Given the description of an element on the screen output the (x, y) to click on. 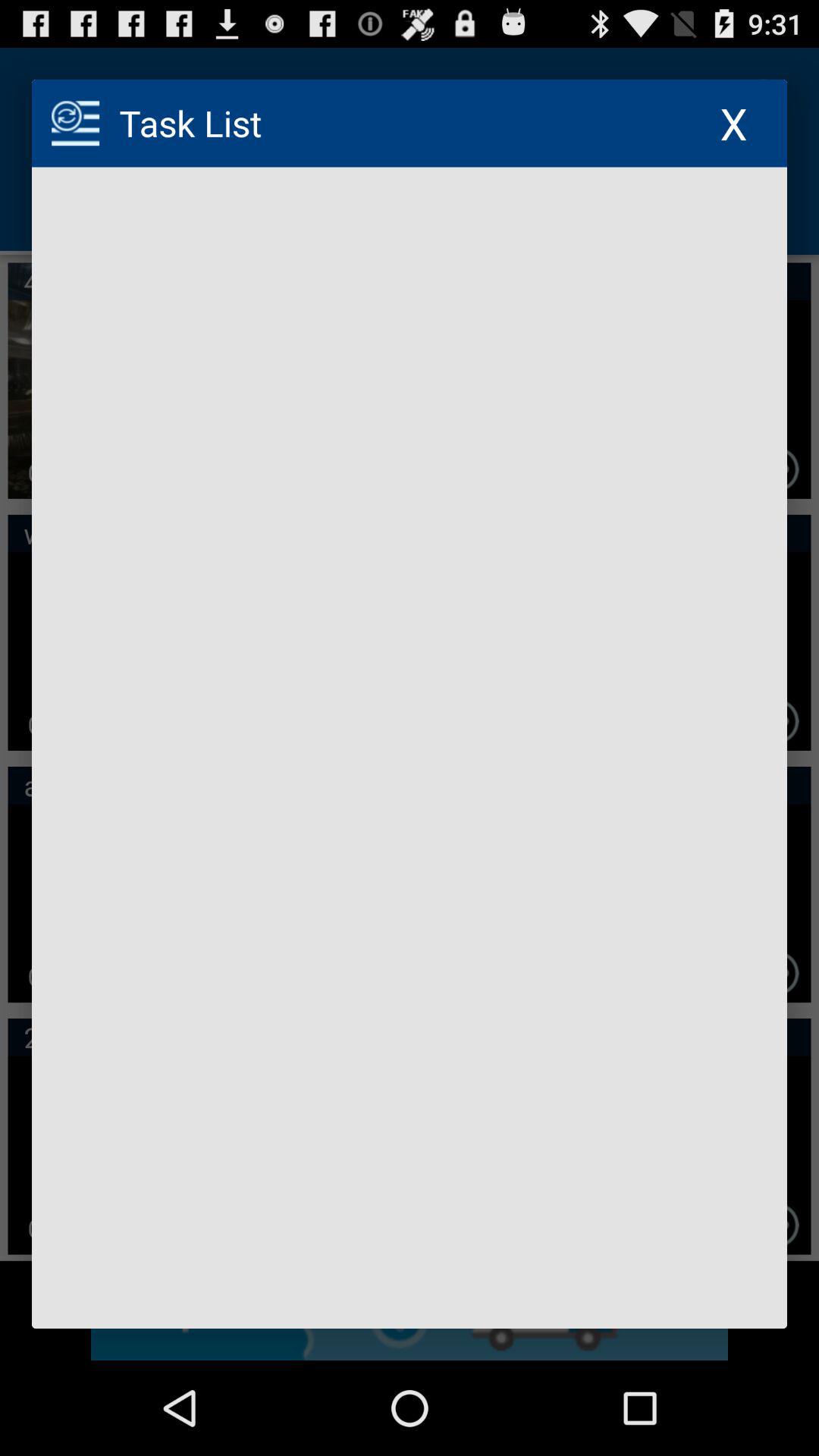
press the icon at the center (409, 747)
